Given the description of an element on the screen output the (x, y) to click on. 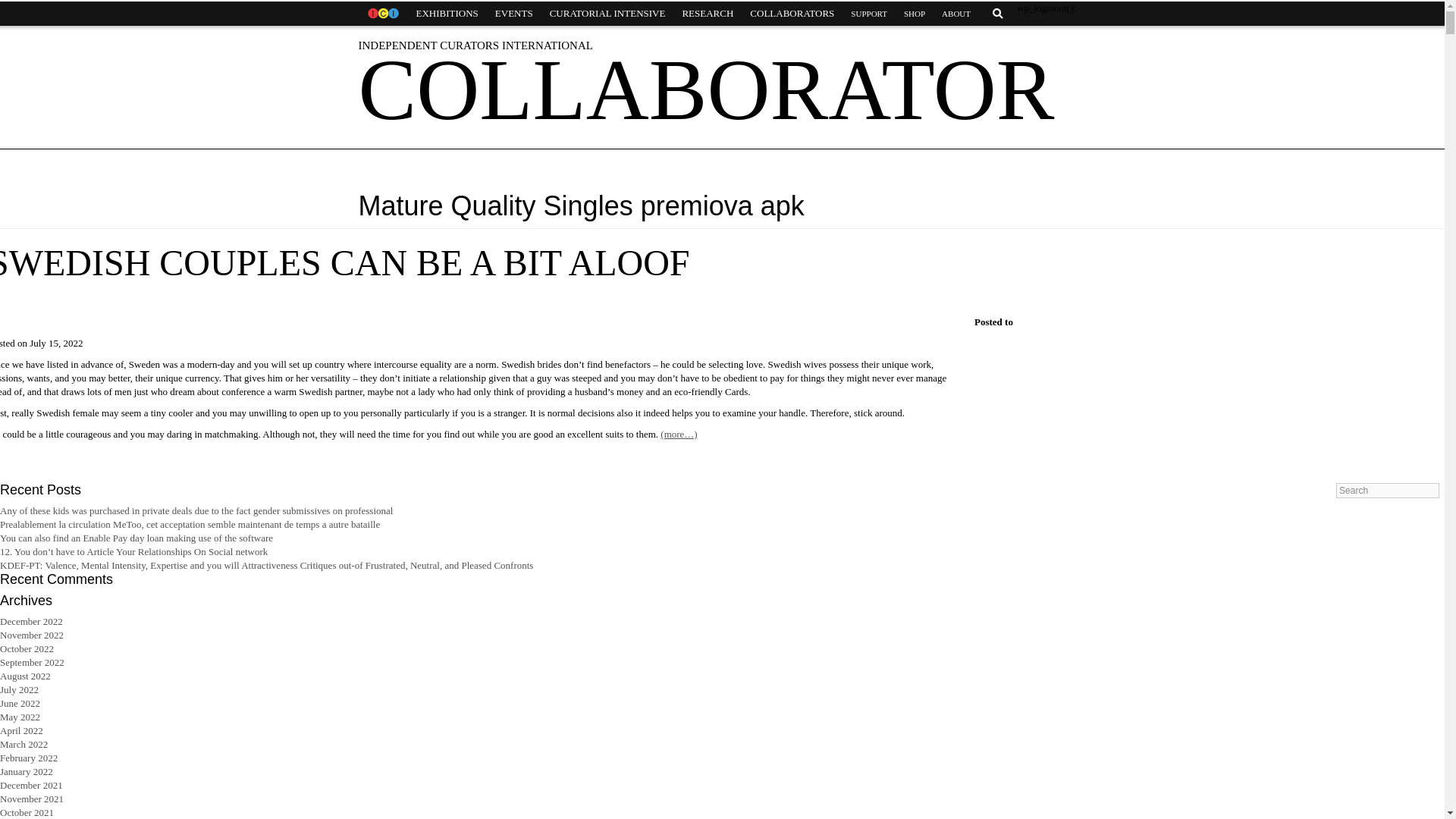
HOME (382, 13)
RESEARCH (706, 13)
CURATORIAL INTENSIVE (607, 13)
EVENTS (513, 13)
COLLABORATORS (792, 13)
EXHIBITIONS (446, 13)
